Given the description of an element on the screen output the (x, y) to click on. 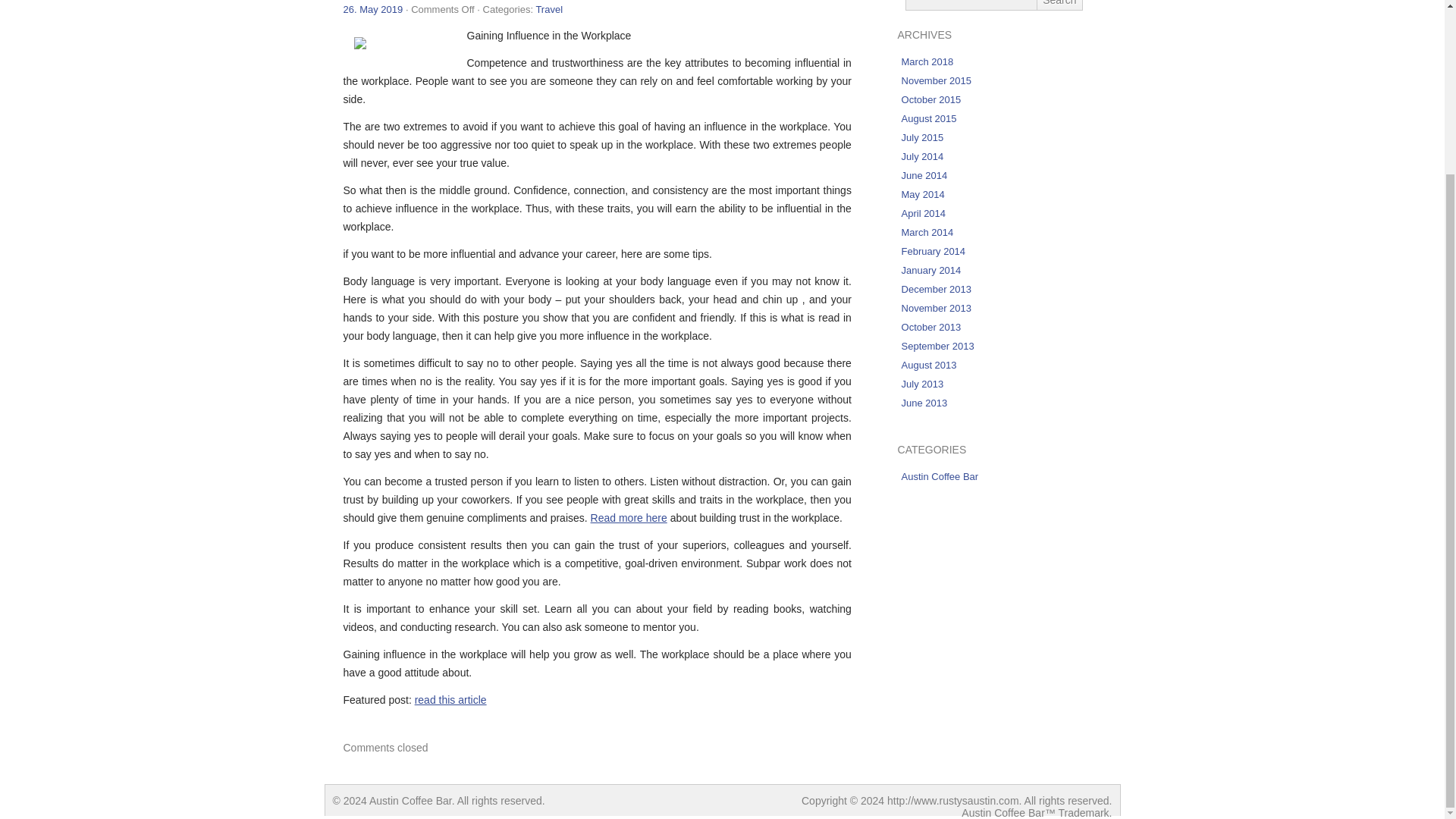
26. May 2019 (372, 9)
July 2013 (922, 383)
Search (1058, 5)
Read more here (628, 517)
July 2015 (922, 137)
February 2014 (933, 251)
January 2014 (930, 270)
June 2014 (924, 174)
November 2015 (936, 80)
September 2013 (937, 346)
July 2014 (922, 156)
March 2018 (927, 61)
June 2013 (924, 402)
Austin Coffee Bar (939, 476)
August 2013 (928, 365)
